Given the description of an element on the screen output the (x, y) to click on. 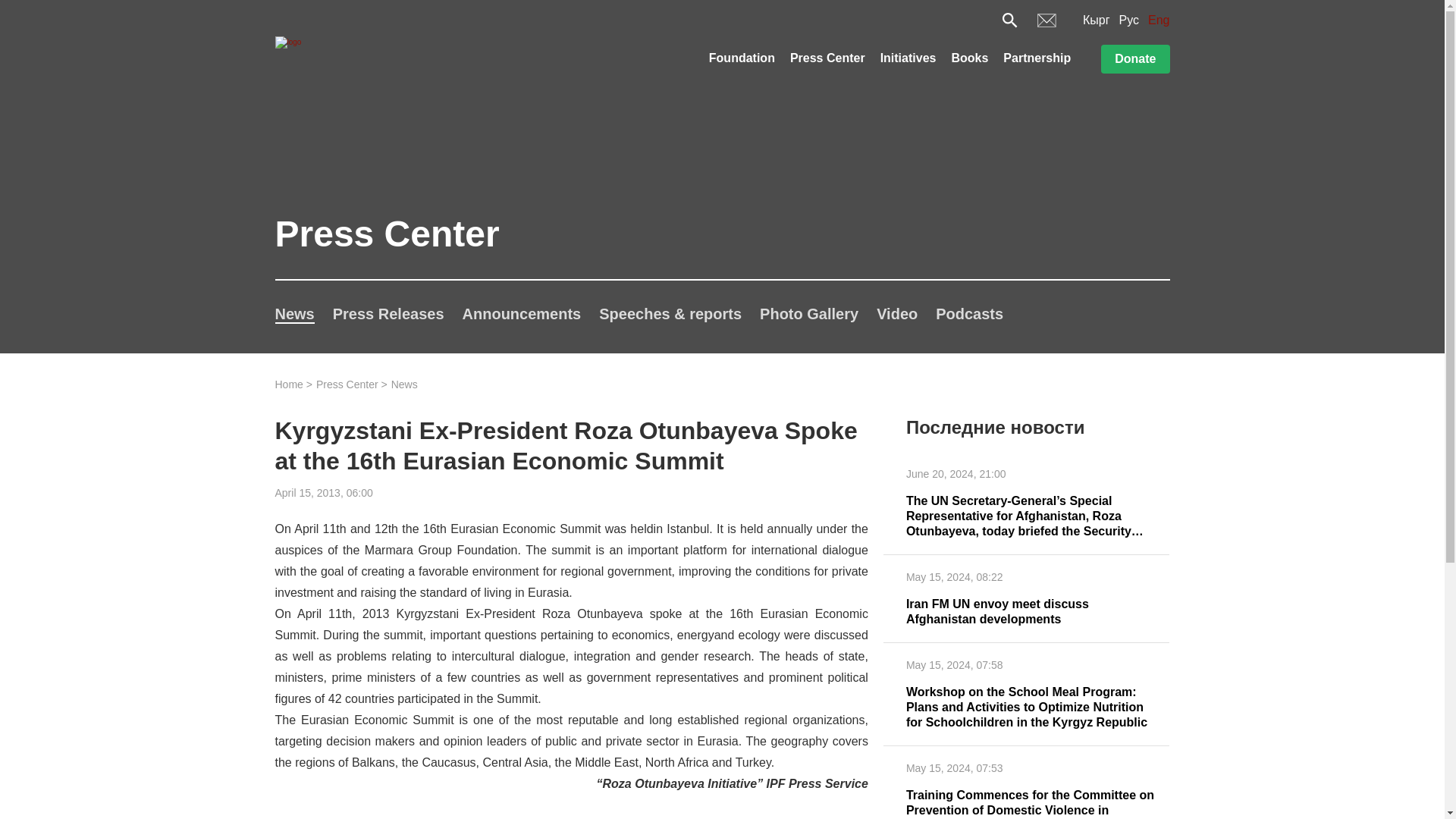
Photo Gallery (809, 313)
Podcasts (969, 313)
Initiatives (908, 59)
Eng (1158, 19)
News (294, 314)
Press Releases (388, 313)
Video (896, 313)
Press Center (827, 59)
News (404, 384)
Books (969, 59)
Donate (1134, 59)
Partnership (1036, 59)
